Given the description of an element on the screen output the (x, y) to click on. 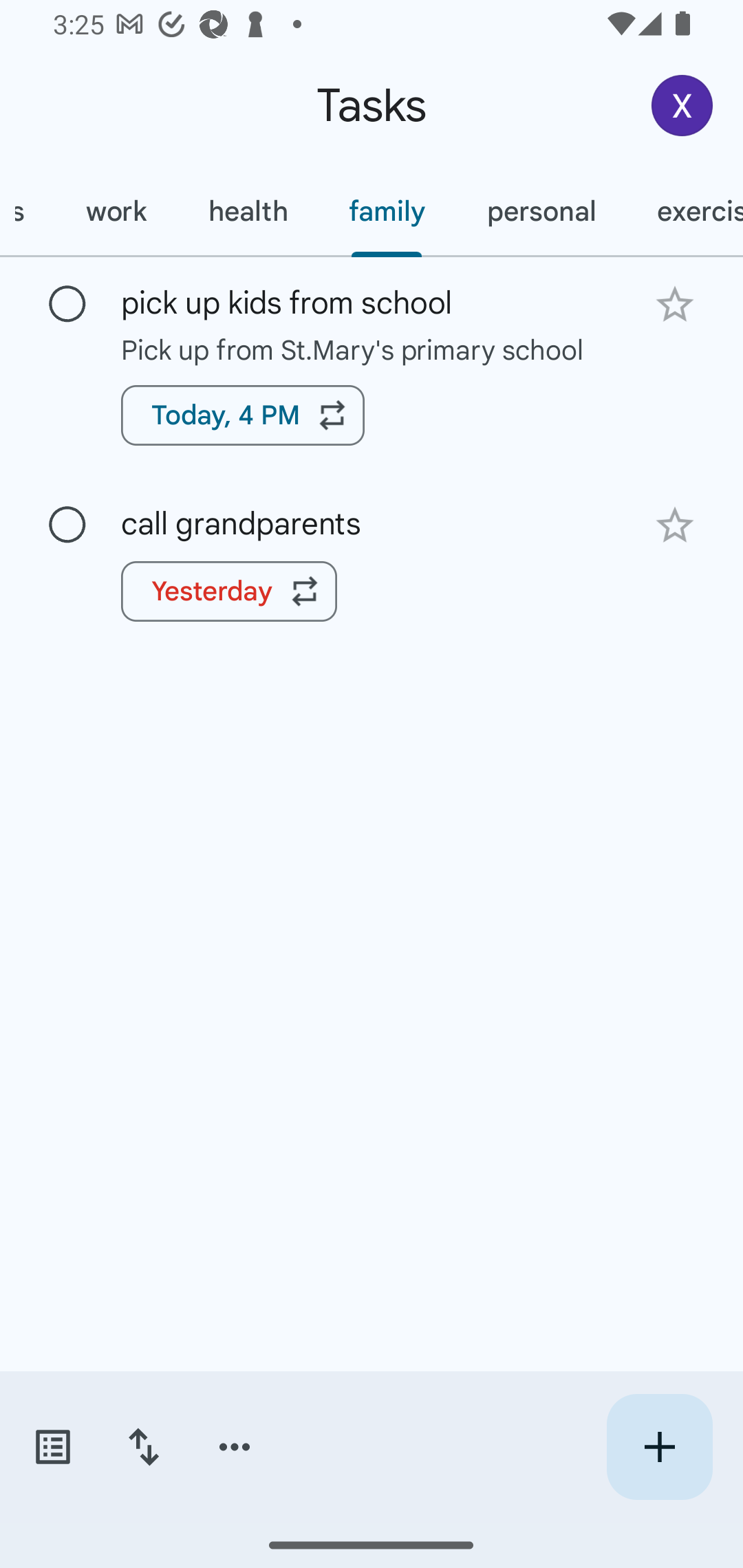
work (115, 211)
health (247, 211)
personal (541, 211)
exercise (684, 211)
Add star (674, 303)
Mark as complete (67, 304)
Pick up from St.Mary's primary school (371, 349)
Today, 4 PM (242, 415)
Add star (674, 524)
Mark as complete (67, 525)
Yesterday (229, 590)
Switch task lists (52, 1447)
Create new task (659, 1446)
Change sort order (143, 1446)
More options (234, 1446)
